Given the description of an element on the screen output the (x, y) to click on. 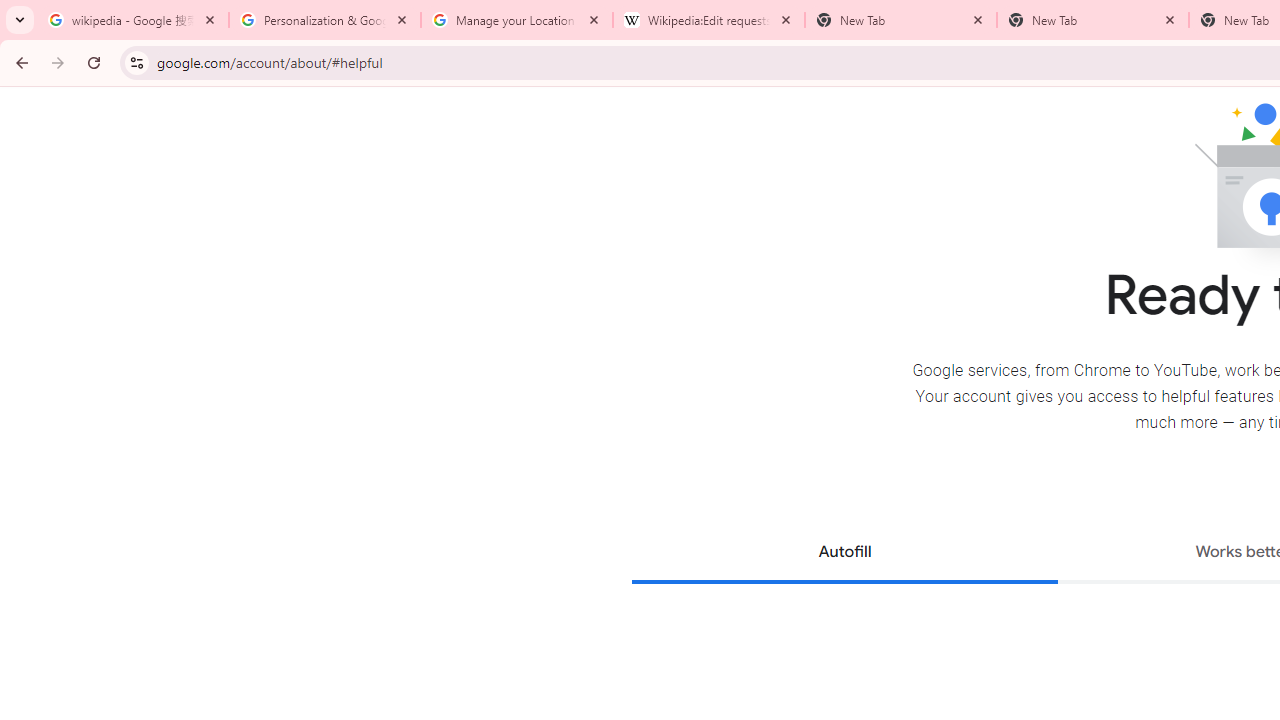
Manage your Location History - Google Search Help (517, 20)
Autofill (844, 553)
New Tab (1093, 20)
Wikipedia:Edit requests - Wikipedia (709, 20)
Personalization & Google Search results - Google Search Help (325, 20)
